Given the description of an element on the screen output the (x, y) to click on. 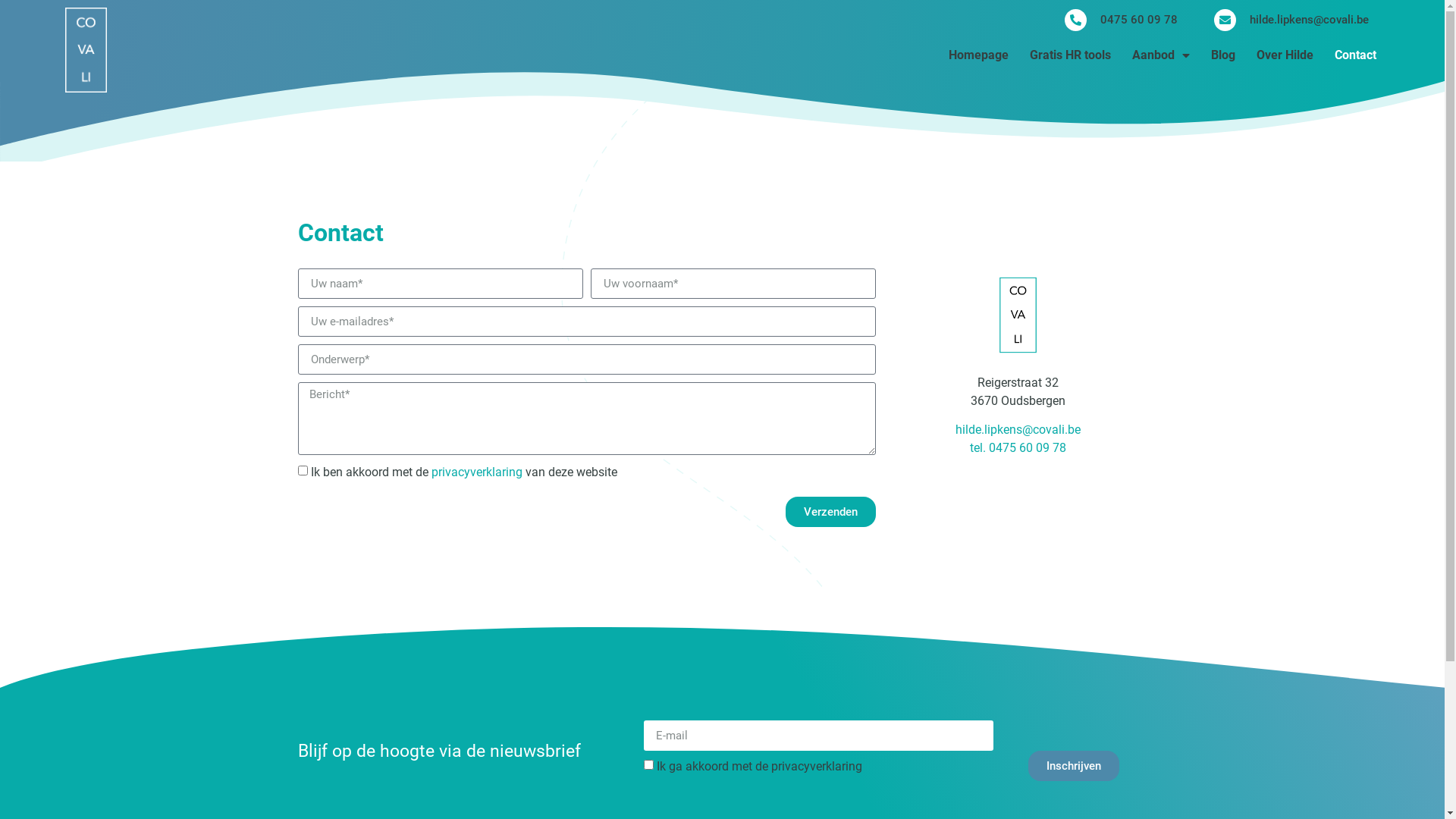
Homepage Element type: text (978, 55)
privacyverklaring Element type: text (475, 471)
Gratis HR tools Element type: text (1070, 55)
0475 60 09 78 Element type: text (1120, 20)
Aanbod Element type: text (1160, 55)
hilde.lipkens@covali.be Element type: text (1290, 20)
Contact Element type: text (1355, 55)
privacyverklaring Element type: text (815, 766)
Verzenden Element type: text (830, 511)
tel. 0475 60 09 78 Element type: text (1017, 447)
Over Hilde Element type: text (1284, 55)
Inschrijven Element type: text (1073, 765)
hilde.lipkens@covali.be Element type: text (1017, 429)
Blog Element type: text (1222, 55)
